Given the description of an element on the screen output the (x, y) to click on. 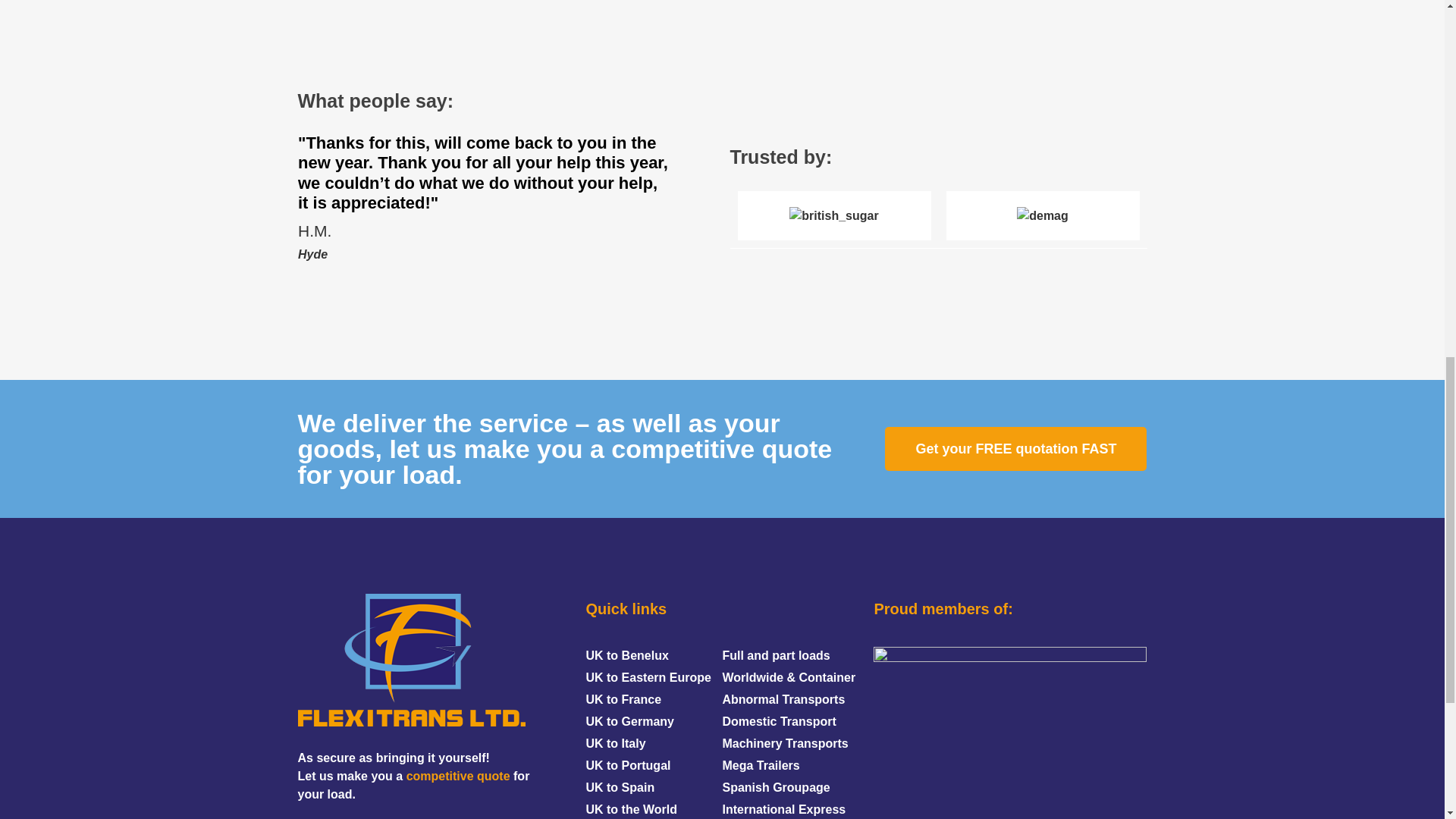
demag (1042, 216)
Request Quotation (458, 775)
